Given the description of an element on the screen output the (x, y) to click on. 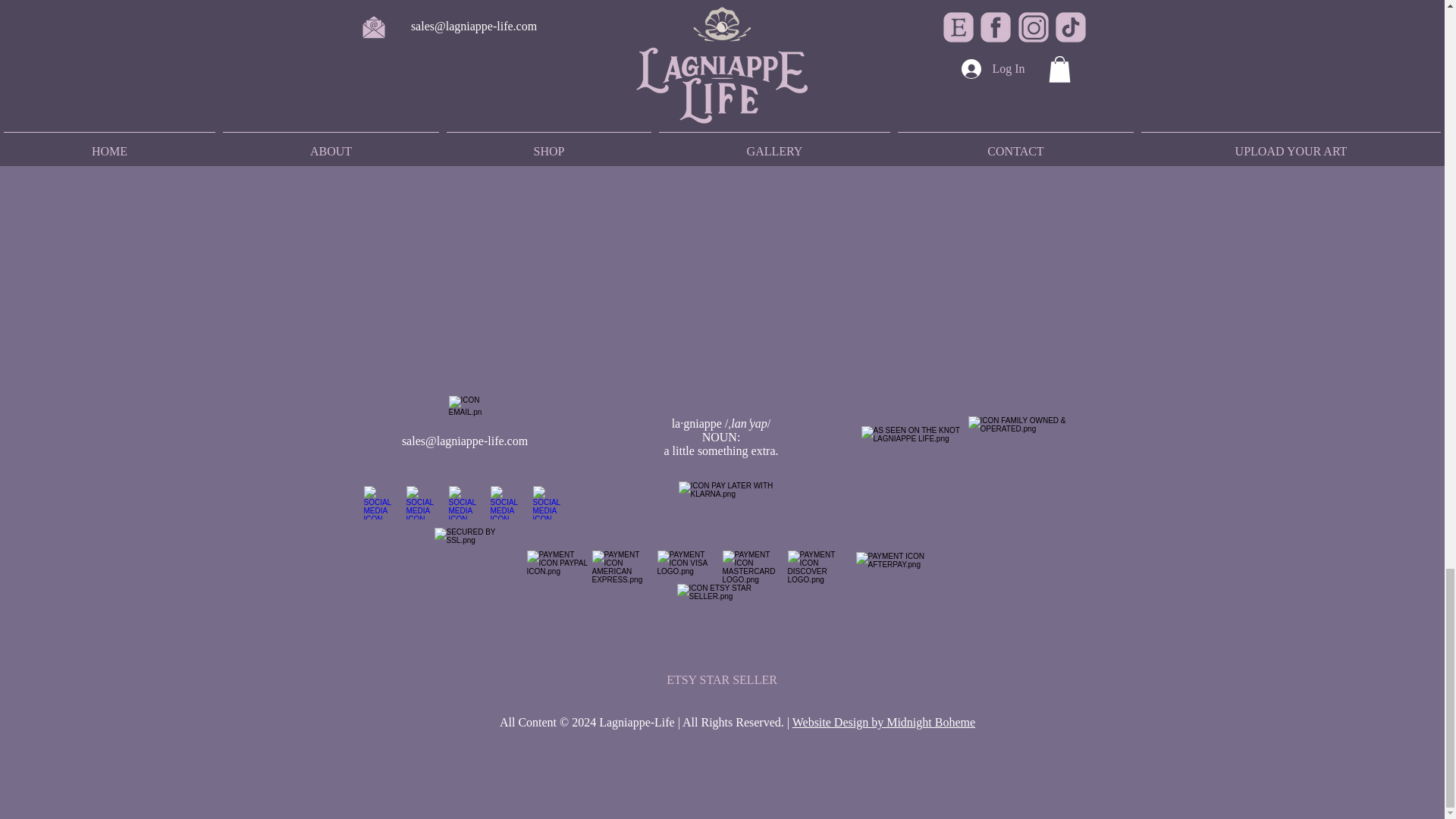
Website Design by Midnight Boheme (883, 721)
